Given the description of an element on the screen output the (x, y) to click on. 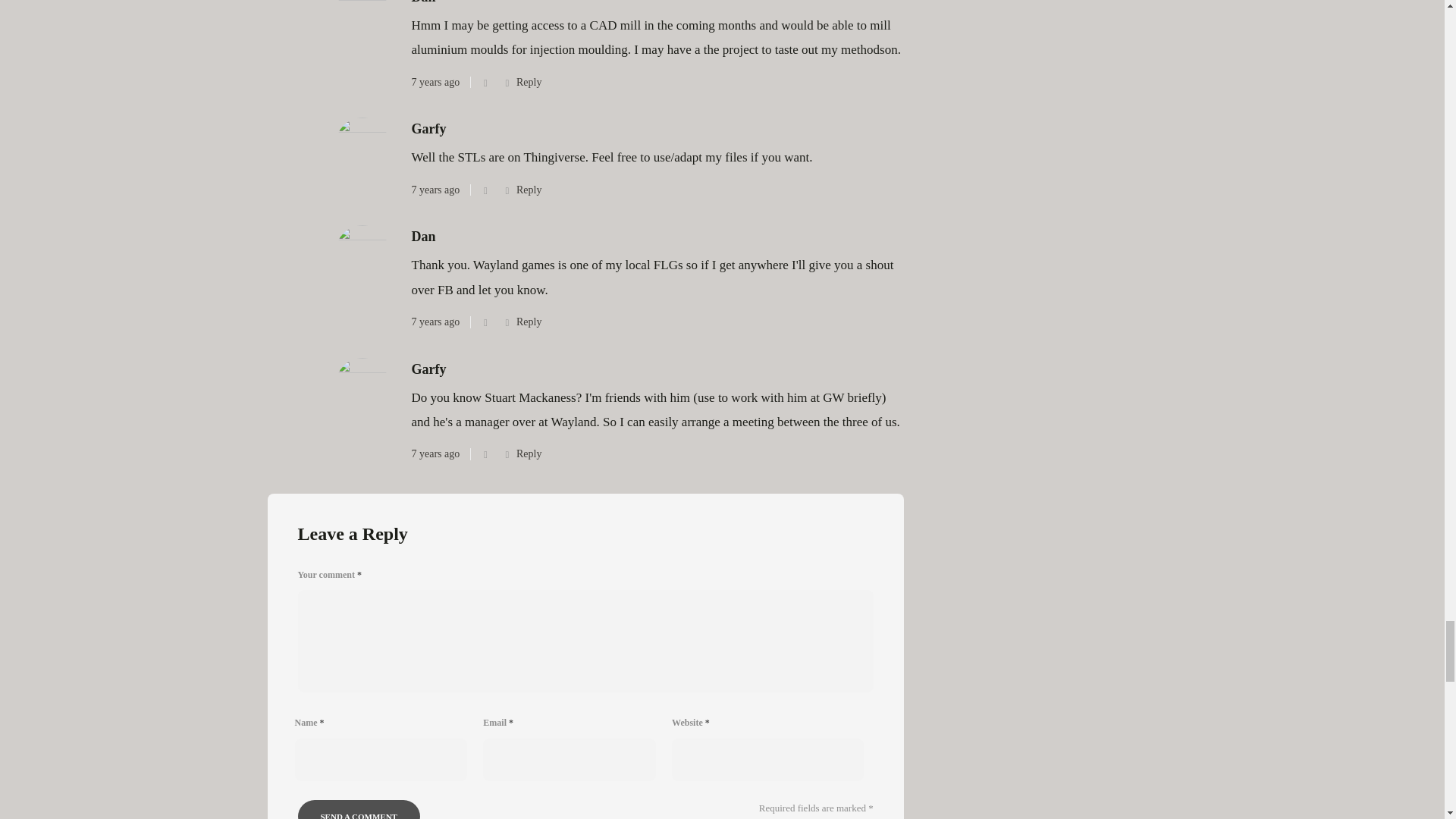
Send a comment (358, 809)
